Given the description of an element on the screen output the (x, y) to click on. 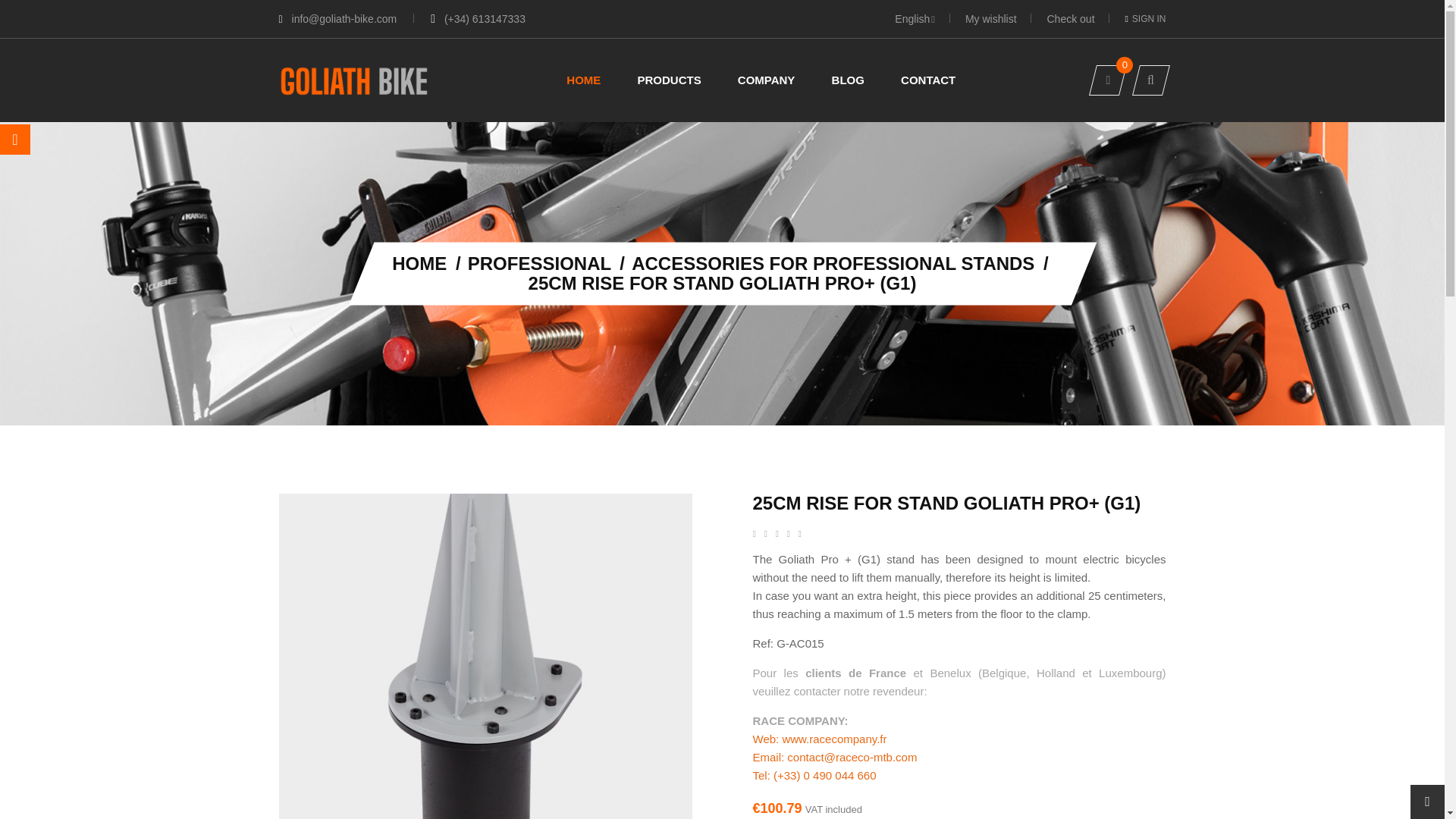
Web: www.racecompany.fr (819, 738)
Wishlist (992, 19)
HOME (421, 263)
Checkout (1071, 19)
Log in to your customer account (1145, 18)
PRODUCTS (668, 80)
SIGN IN (1145, 18)
Ingrese a su cuenta de cliente (1145, 18)
My wishlist (992, 19)
COMPANY (766, 80)
CONTACT (927, 80)
PROFESSIONAL (541, 263)
Check out (1071, 19)
ACCESSORIES FOR PROFESSIONAL STANDS (835, 263)
